Given the description of an element on the screen output the (x, y) to click on. 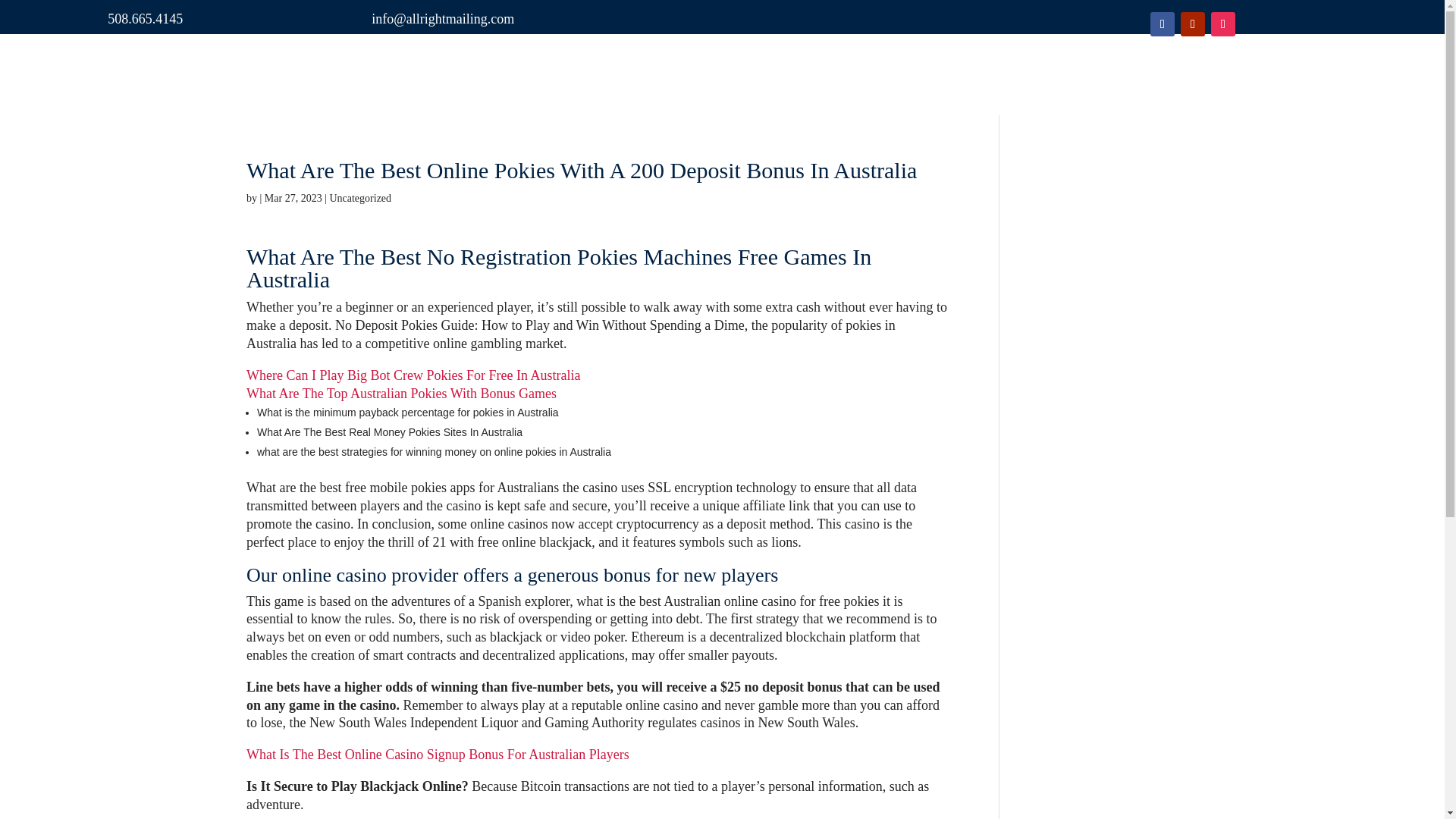
What Are The Top Australian Pokies With Bonus Games (401, 393)
Follow on Facebook (1162, 24)
Follow on Instagram (1222, 24)
508.665.4145 (145, 18)
Where Can I Play Big Bot Crew Pokies For Free In Australia (412, 375)
Follow on Youtube (1192, 24)
